Given the description of an element on the screen output the (x, y) to click on. 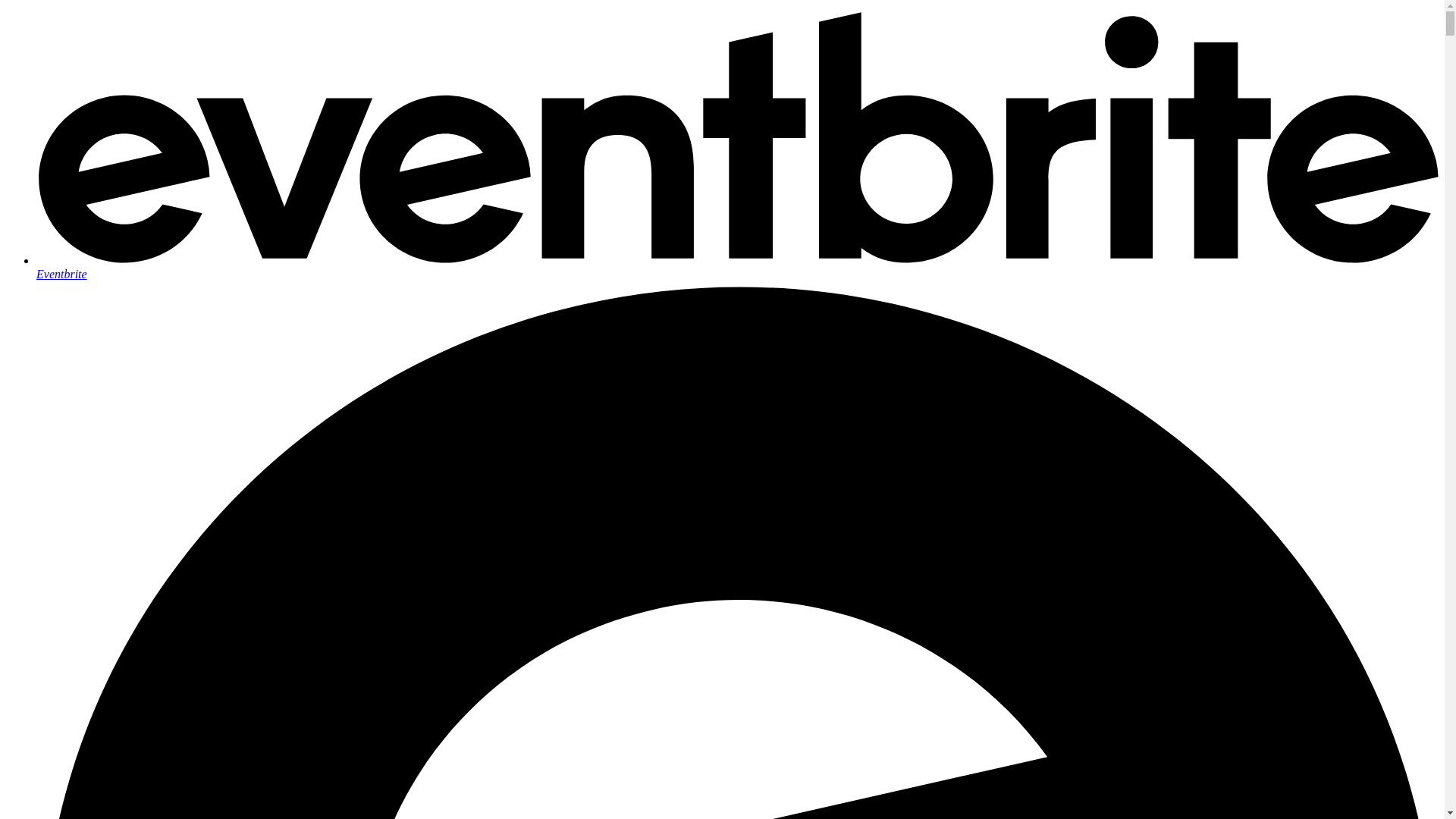
Eventbrite Element type: text (737, 267)
